Given the description of an element on the screen output the (x, y) to click on. 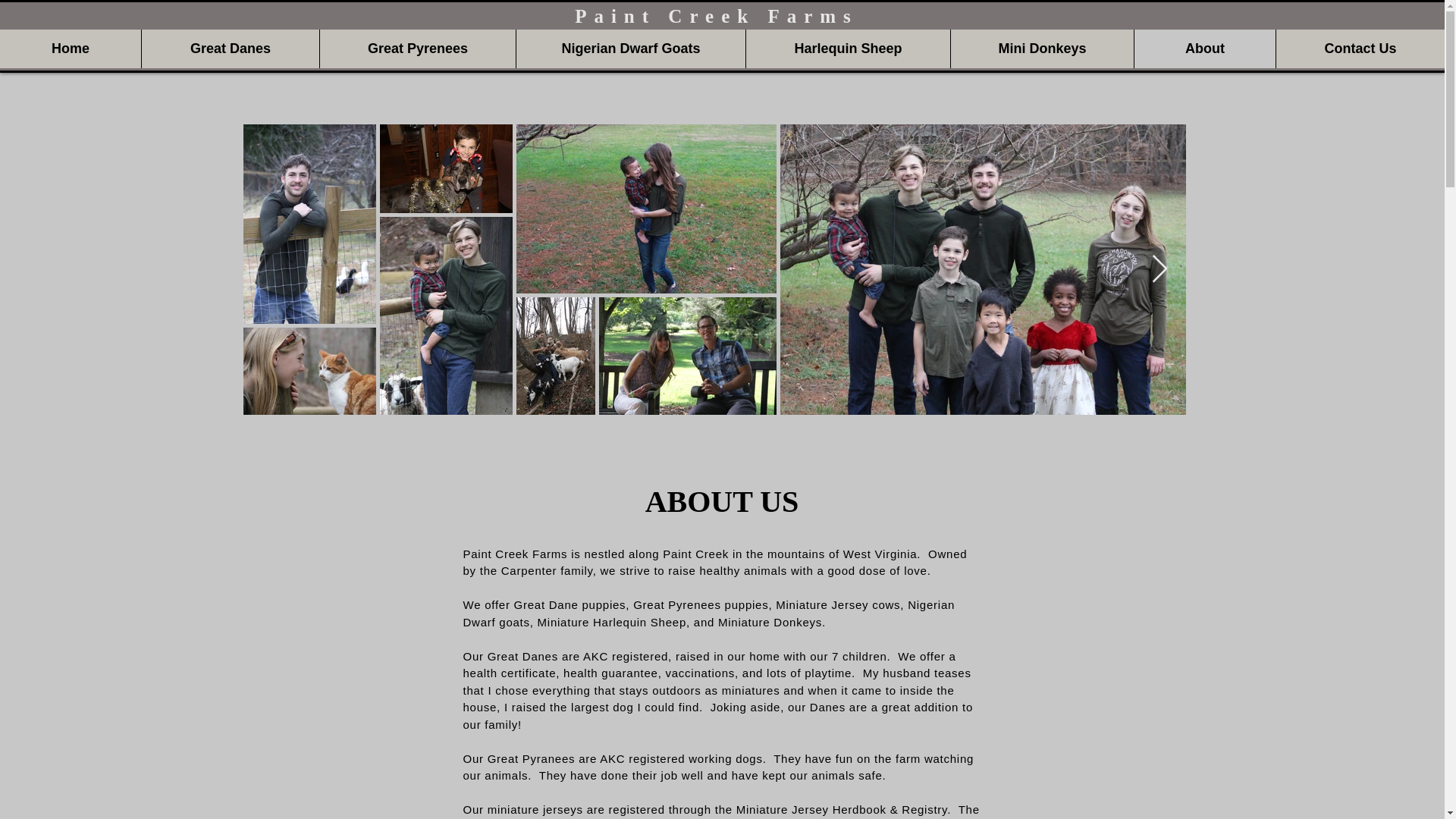
Great Danes (229, 47)
Great Pyrenees (416, 47)
Harlequin Sheep (847, 47)
Nigerian Dwarf Goats (630, 47)
About (1204, 47)
Home (70, 47)
Mini Donkeys (1042, 47)
